Given the description of an element on the screen output the (x, y) to click on. 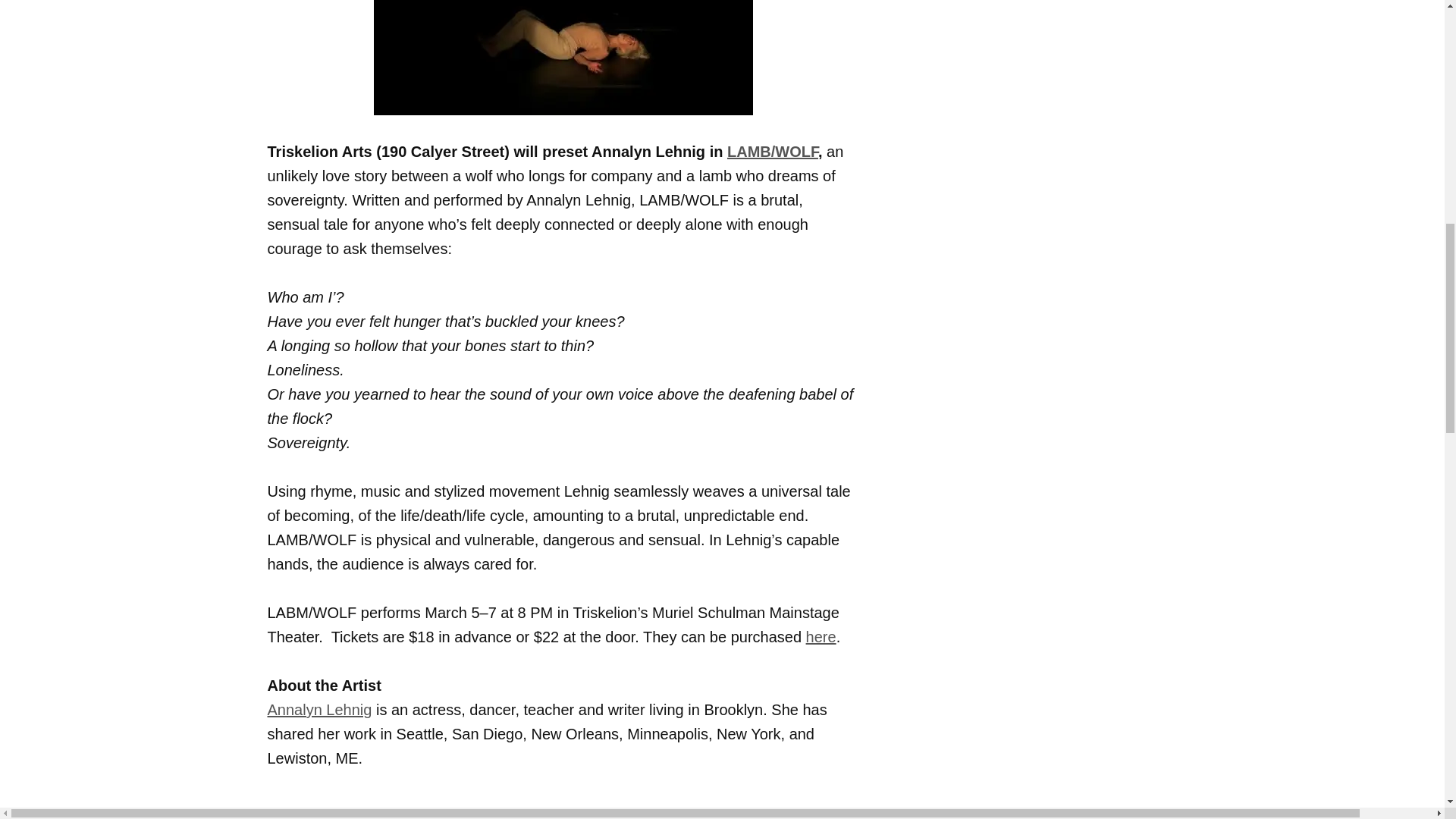
3rd party ad content (1040, 24)
3rd party ad content (1040, 309)
